Given the description of an element on the screen output the (x, y) to click on. 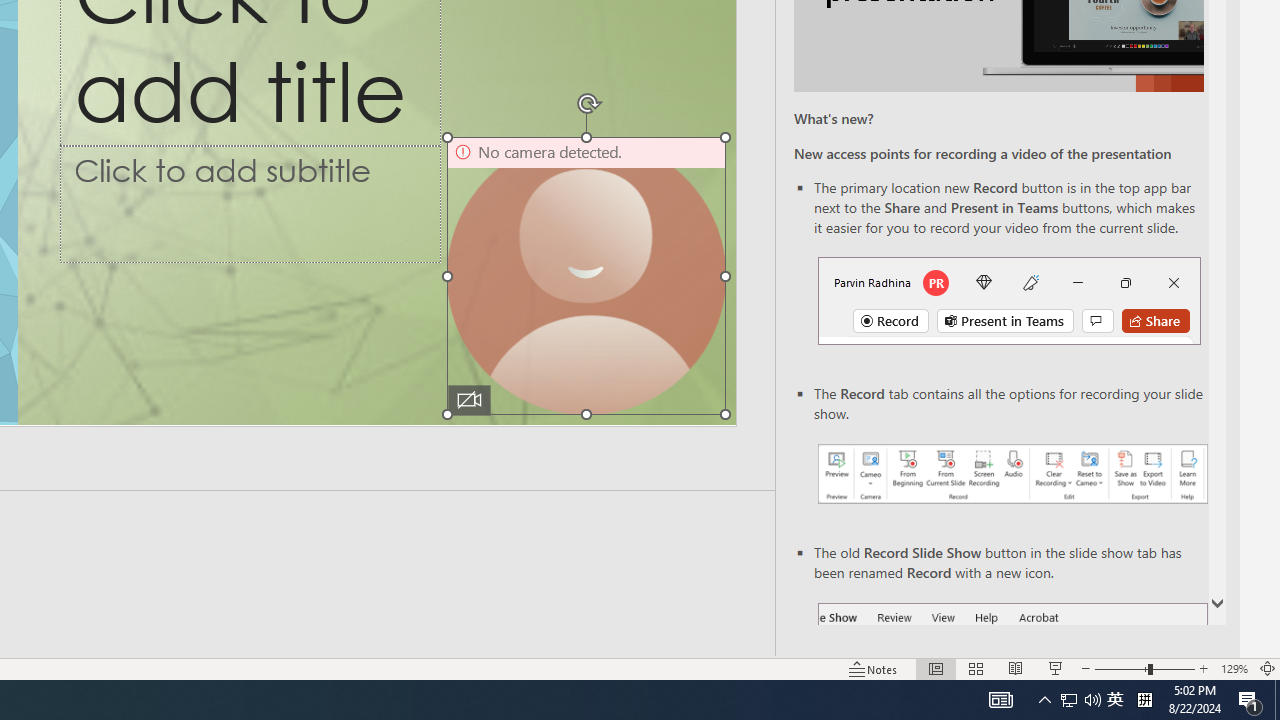
Record your presentations screenshot one (1012, 473)
Camera 9, No camera detected. (586, 275)
Action Center, 1 new notification (1250, 699)
Subtitle TextBox (250, 203)
